Given the description of an element on the screen output the (x, y) to click on. 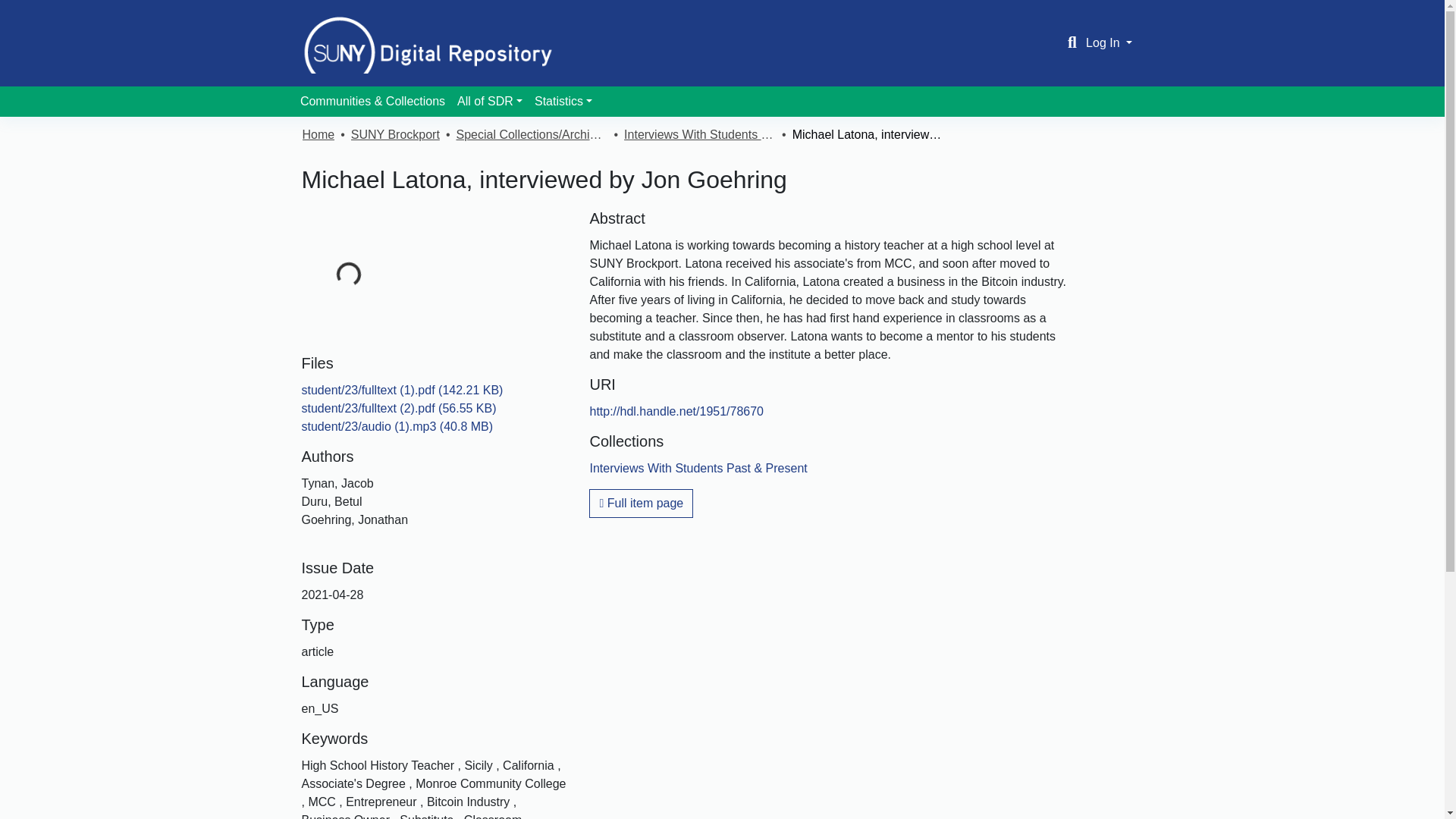
SUNY Brockport (394, 135)
Statistics (563, 101)
Search (1072, 43)
All of SDR (489, 101)
Home (317, 135)
Log In (1108, 42)
Full item page (641, 502)
